Given the description of an element on the screen output the (x, y) to click on. 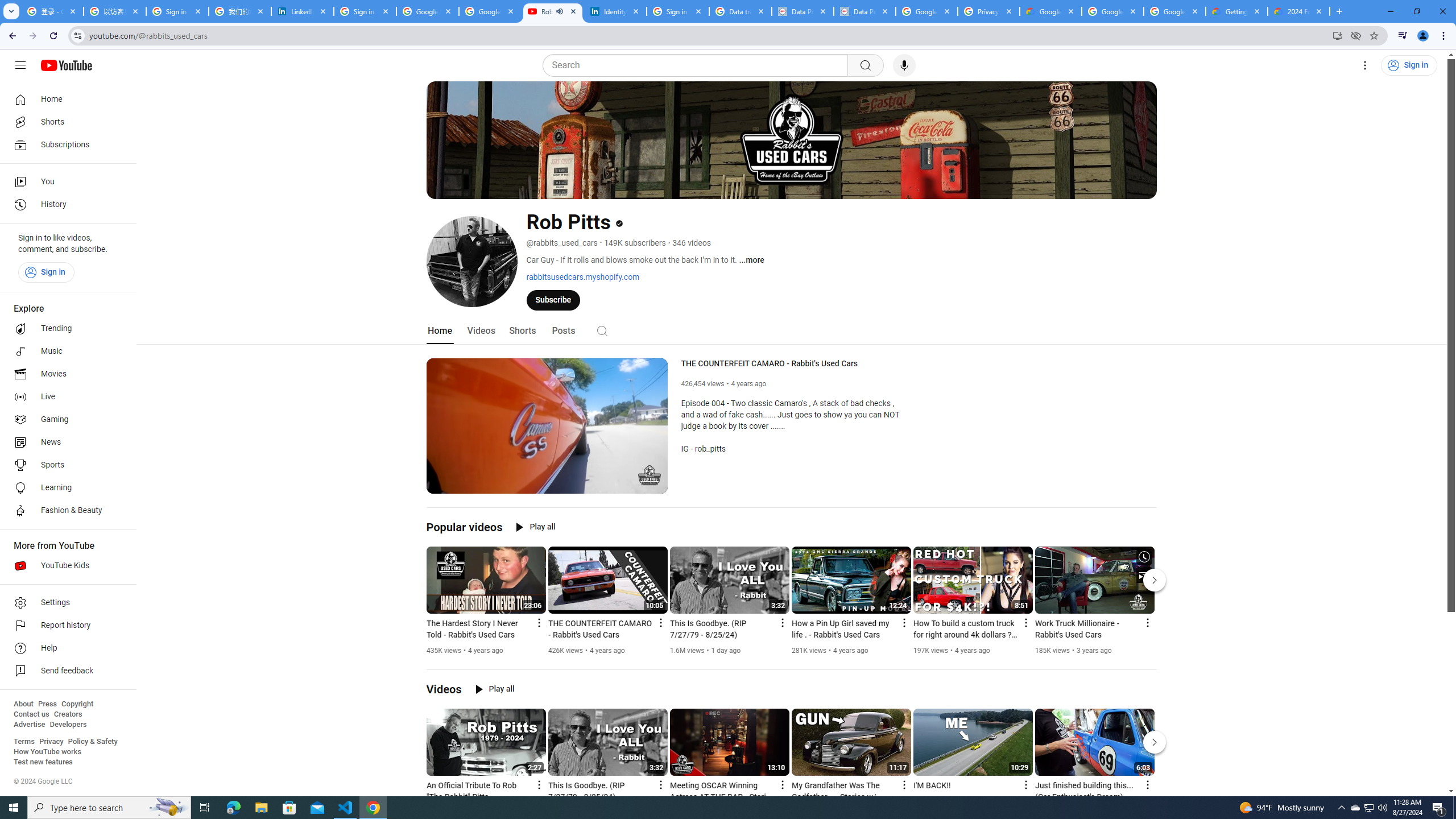
About (23, 703)
Gaming (64, 419)
rabbitsusedcars.myshopify.com (582, 276)
Data Privacy Framework (864, 11)
Channel watermark (649, 475)
Posts (562, 330)
Google Cloud Terms Directory | Google Cloud (1050, 11)
Full screen (f) (650, 483)
